Given the description of an element on the screen output the (x, y) to click on. 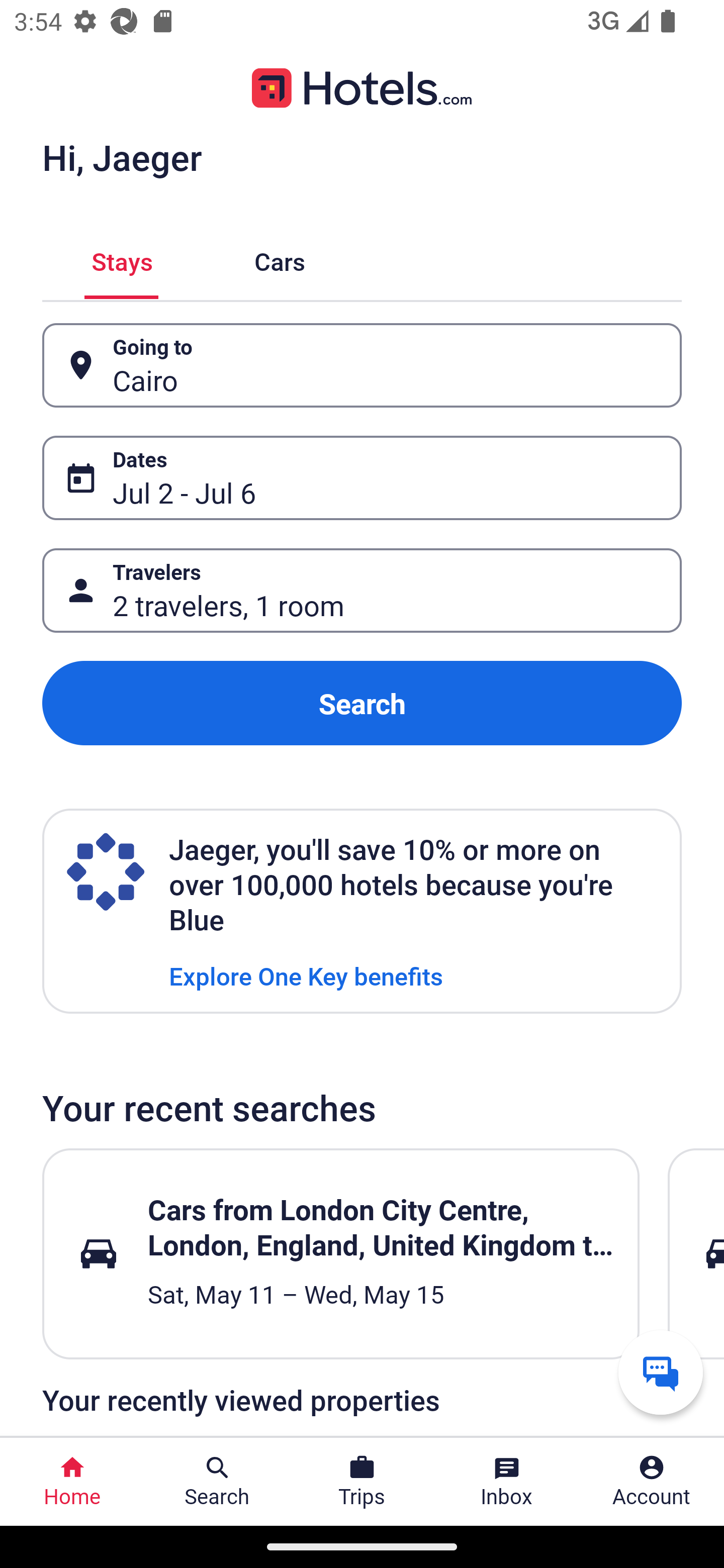
Hi, Jaeger (121, 156)
Cars (279, 259)
Going to Button Cairo (361, 365)
Dates Button Jul 2 - Jul 6 (361, 477)
Travelers Button 2 travelers, 1 room (361, 590)
Search (361, 702)
Get help from a virtual agent (660, 1371)
Search Search Button (216, 1481)
Trips Trips Button (361, 1481)
Inbox Inbox Button (506, 1481)
Account Profile. Button (651, 1481)
